Given the description of an element on the screen output the (x, y) to click on. 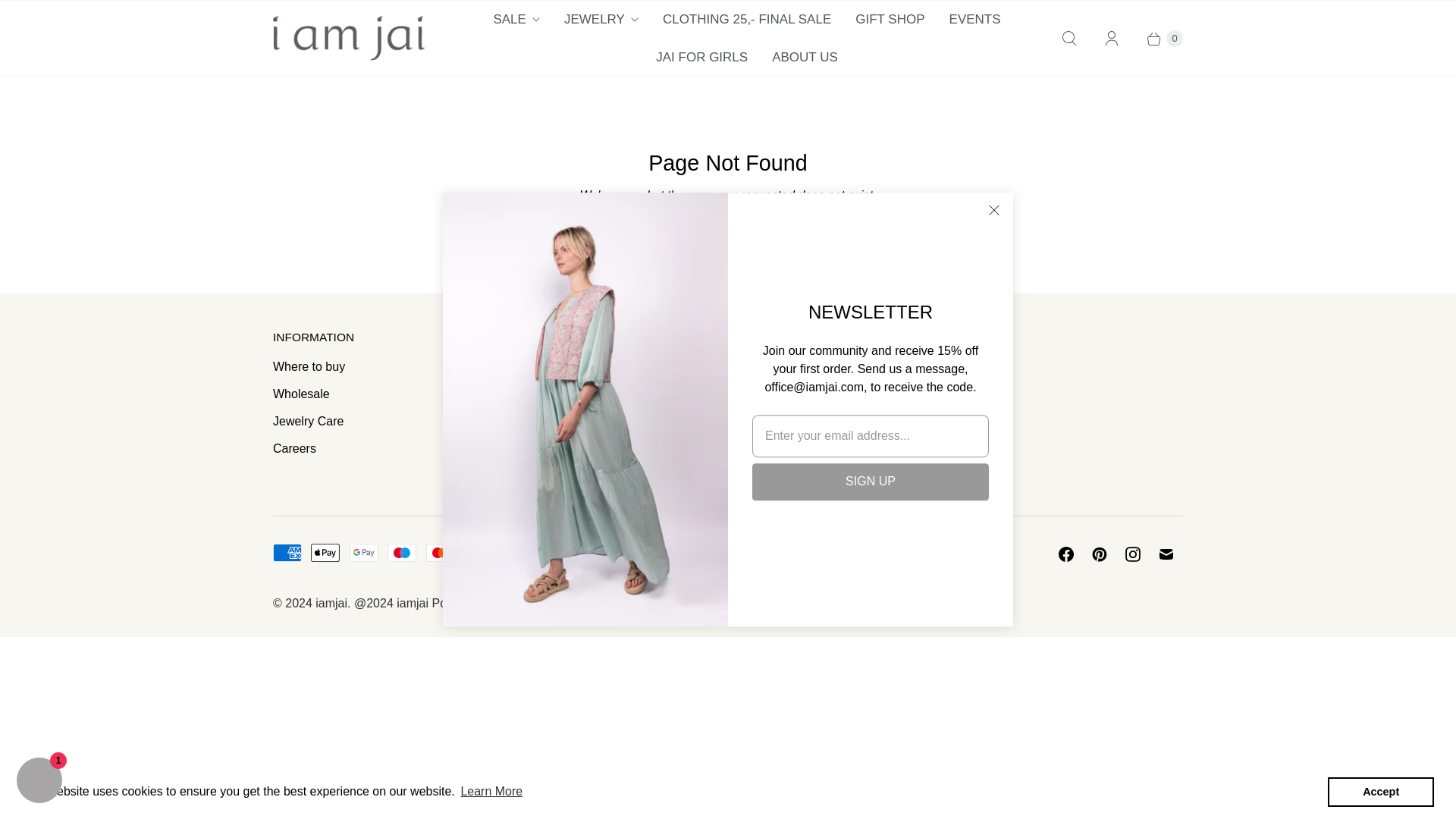
American Express (287, 552)
Mastercard (440, 552)
Visa (593, 552)
Google Pay (363, 552)
0 (1157, 37)
GIFT SHOP (889, 19)
EVENTS (975, 19)
PayPal (478, 552)
CLOTHING 25,- FINAL SALE (746, 19)
Apple Pay (325, 552)
Shop Pay (516, 552)
JAI FOR GIRLS (701, 56)
Maestro (401, 552)
Union Pay (554, 552)
ABOUT US (805, 56)
